Given the description of an element on the screen output the (x, y) to click on. 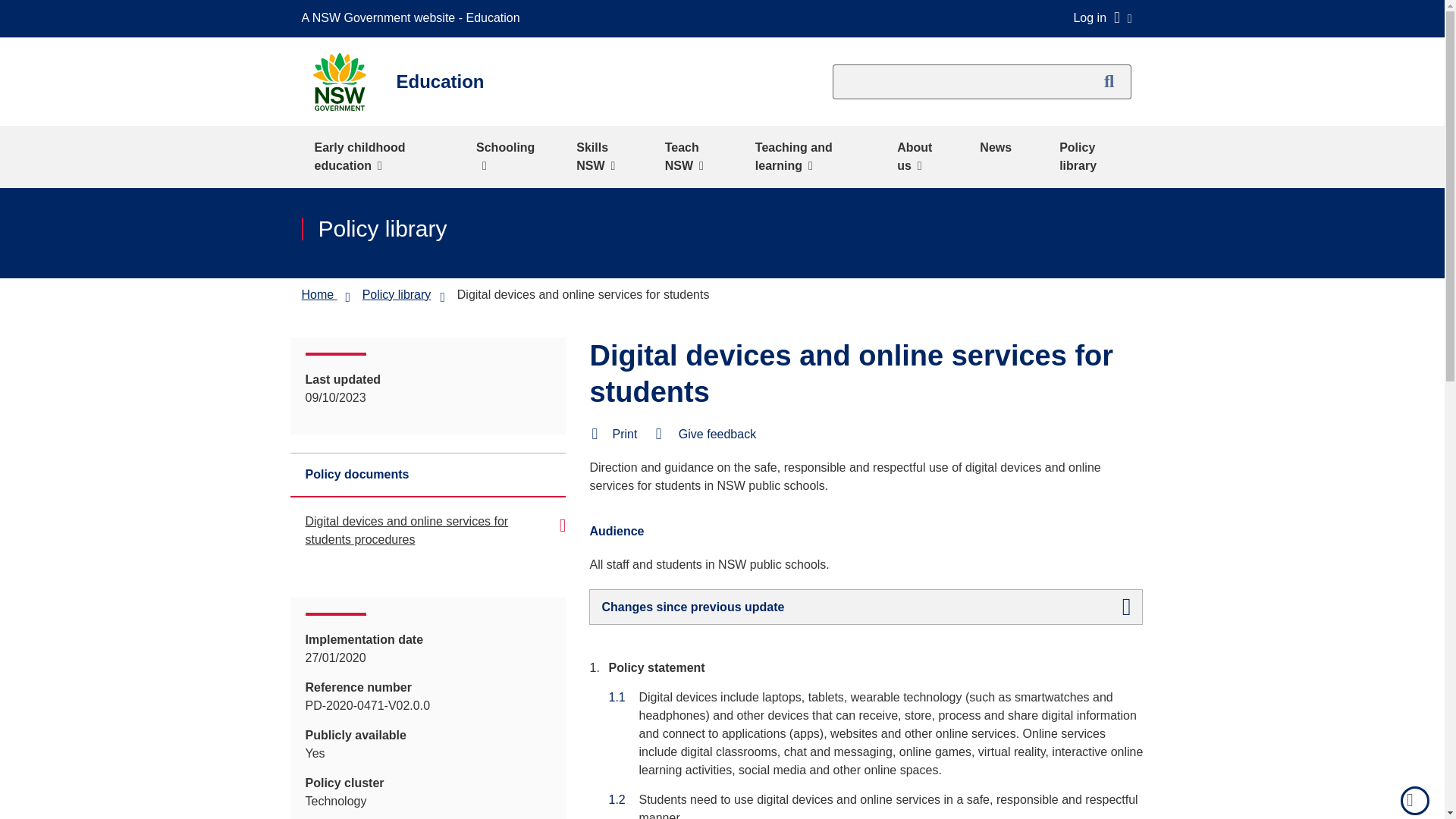
Digital devices and online services for students procedures (406, 530)
NSW Logo (339, 81)
Go to NSW Department of Education homepage (318, 294)
Log in (1101, 17)
A NSW Government website - Education (414, 18)
